Given the description of an element on the screen output the (x, y) to click on. 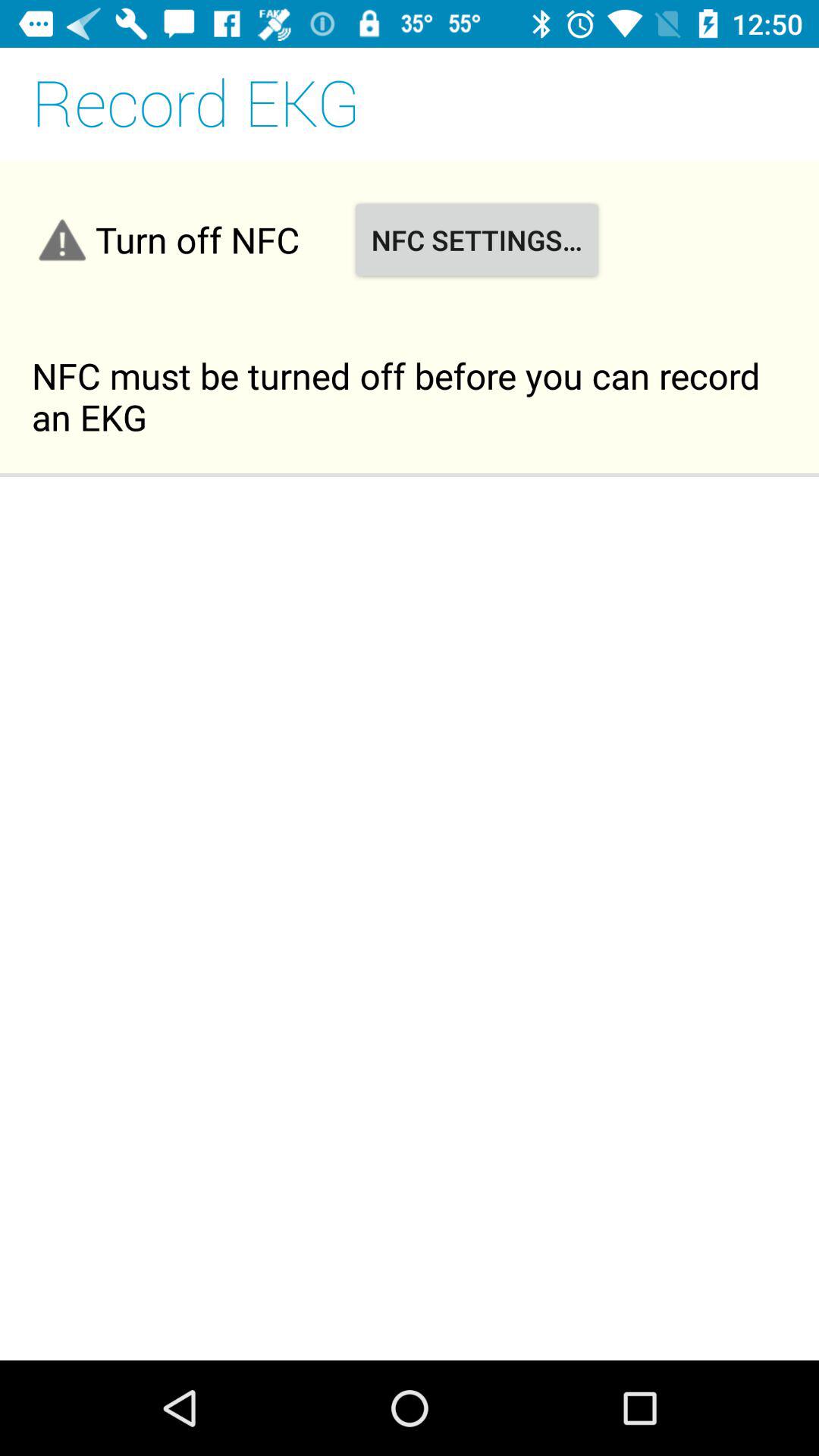
launch item above the nfc must be icon (476, 239)
